Given the description of an element on the screen output the (x, y) to click on. 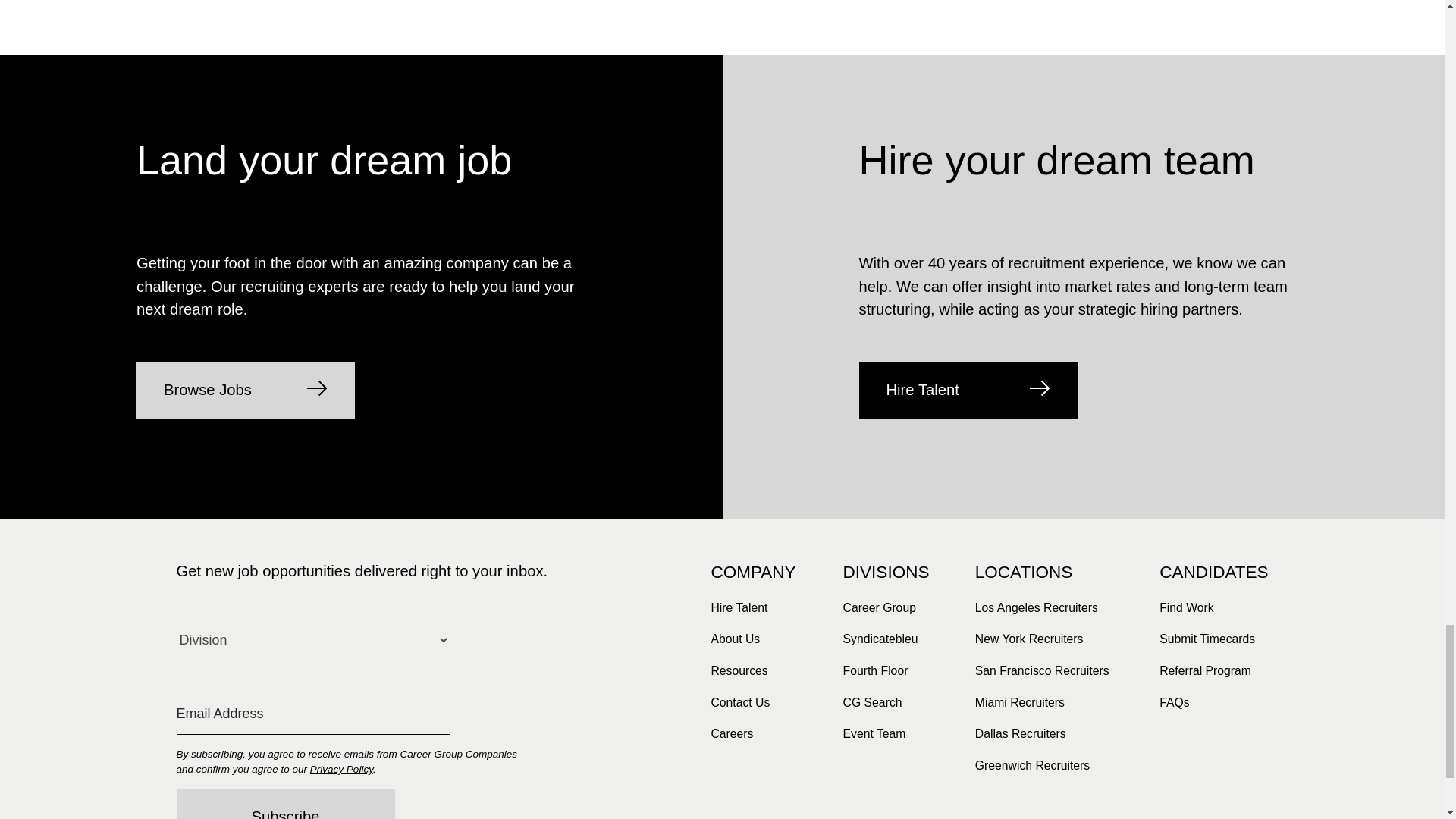
Resources (738, 671)
Career Group (879, 608)
Careers (731, 734)
Fourth Floor (875, 671)
About Us (735, 639)
Hire Talent (968, 389)
CG Search (872, 703)
Contact Us (740, 703)
Syndicatebleu (880, 639)
Subscribe (285, 804)
Hire Talent (738, 608)
Browse Jobs (245, 389)
Subscribe (285, 804)
Privacy Policy (341, 768)
